Given the description of an element on the screen output the (x, y) to click on. 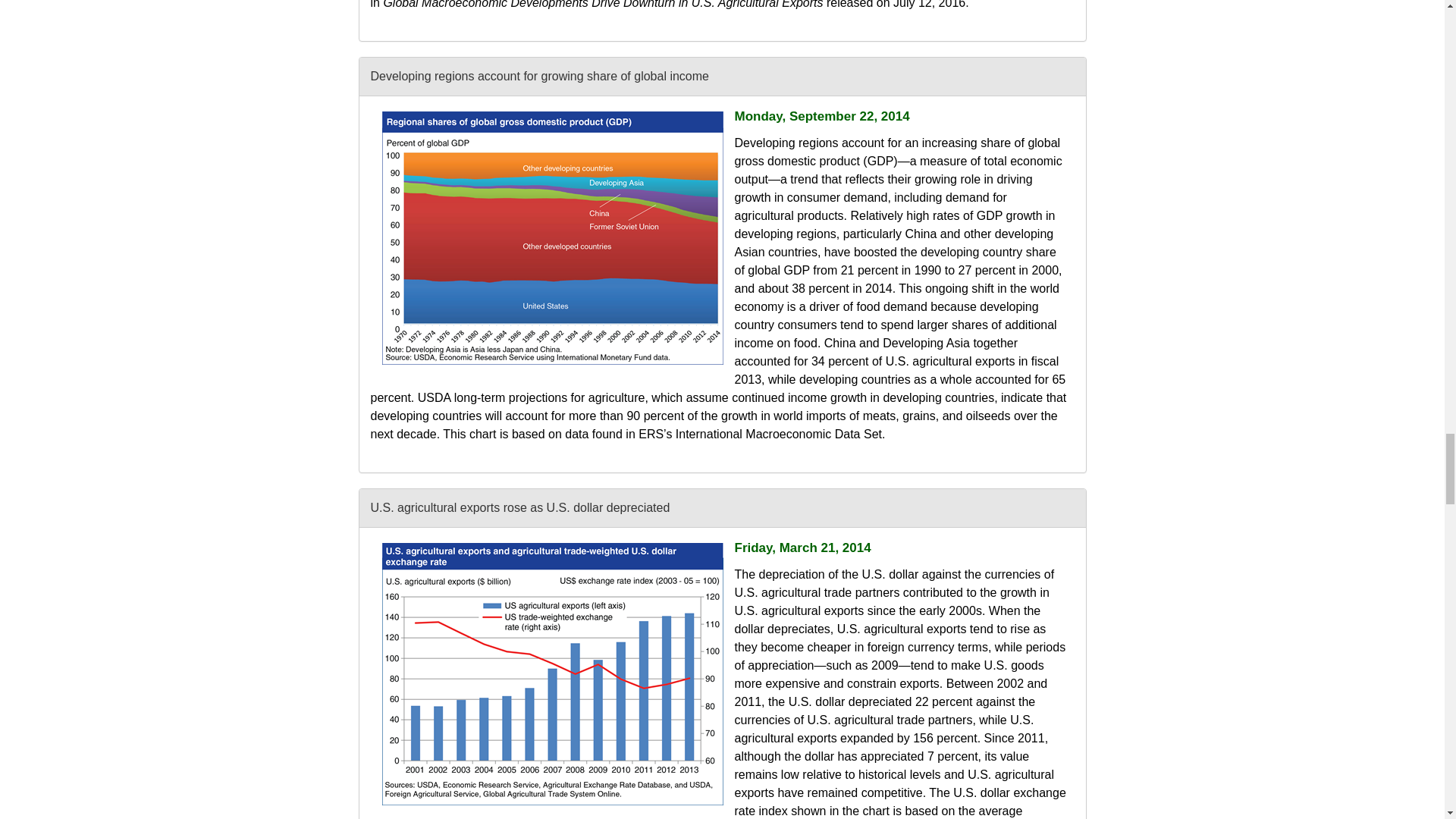
U.S. agricultural exports rose as U.S. dollar depreciated (552, 673)
